Given the description of an element on the screen output the (x, y) to click on. 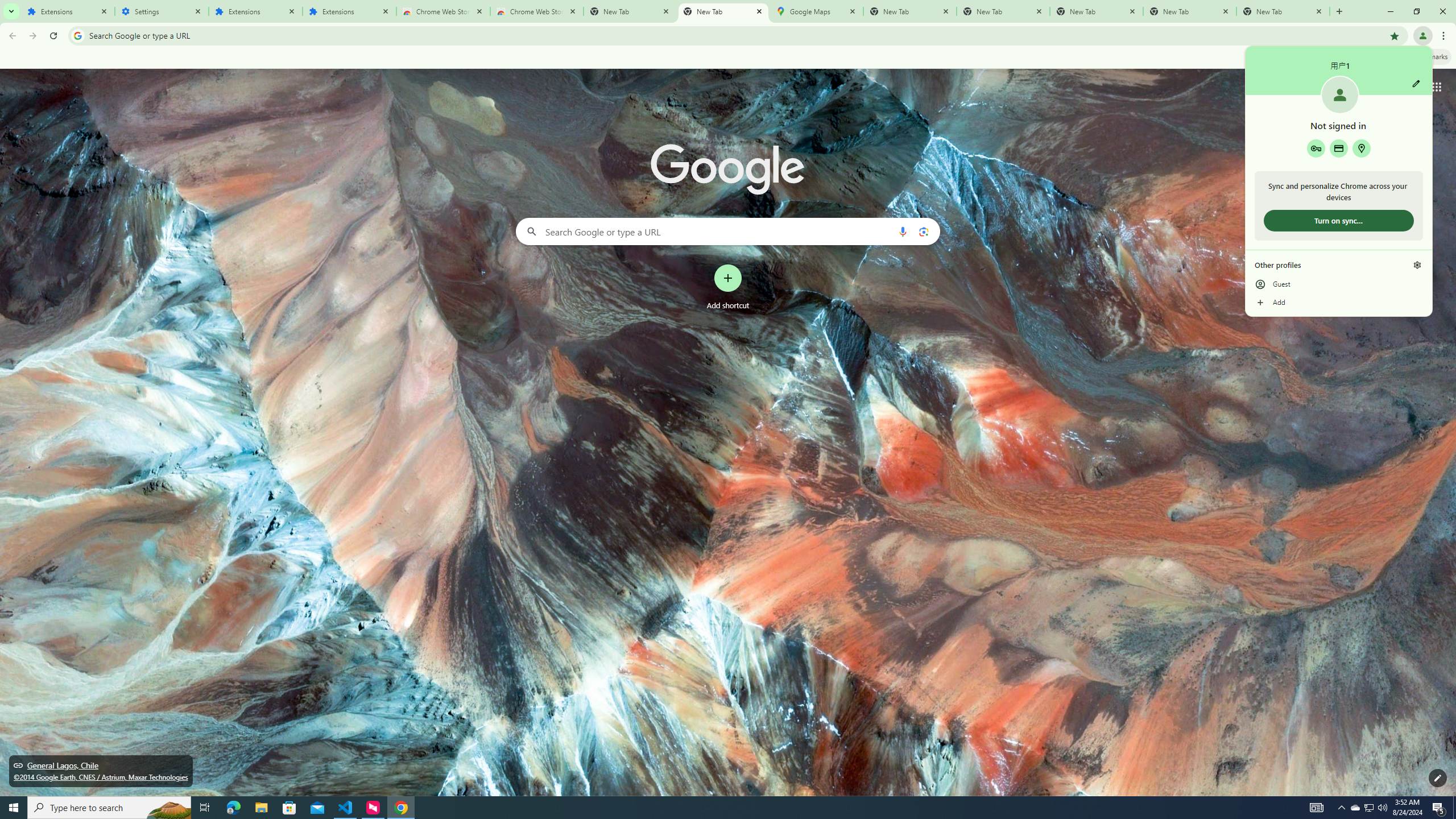
Extensions (67, 11)
Google Maps (815, 11)
Google Password Manager (1315, 148)
Q2790: 100% (1368, 807)
Extensions (1382, 807)
Addresses and more (349, 11)
Running applications (1361, 148)
Type here to search (717, 807)
Guest (108, 807)
